Given the description of an element on the screen output the (x, y) to click on. 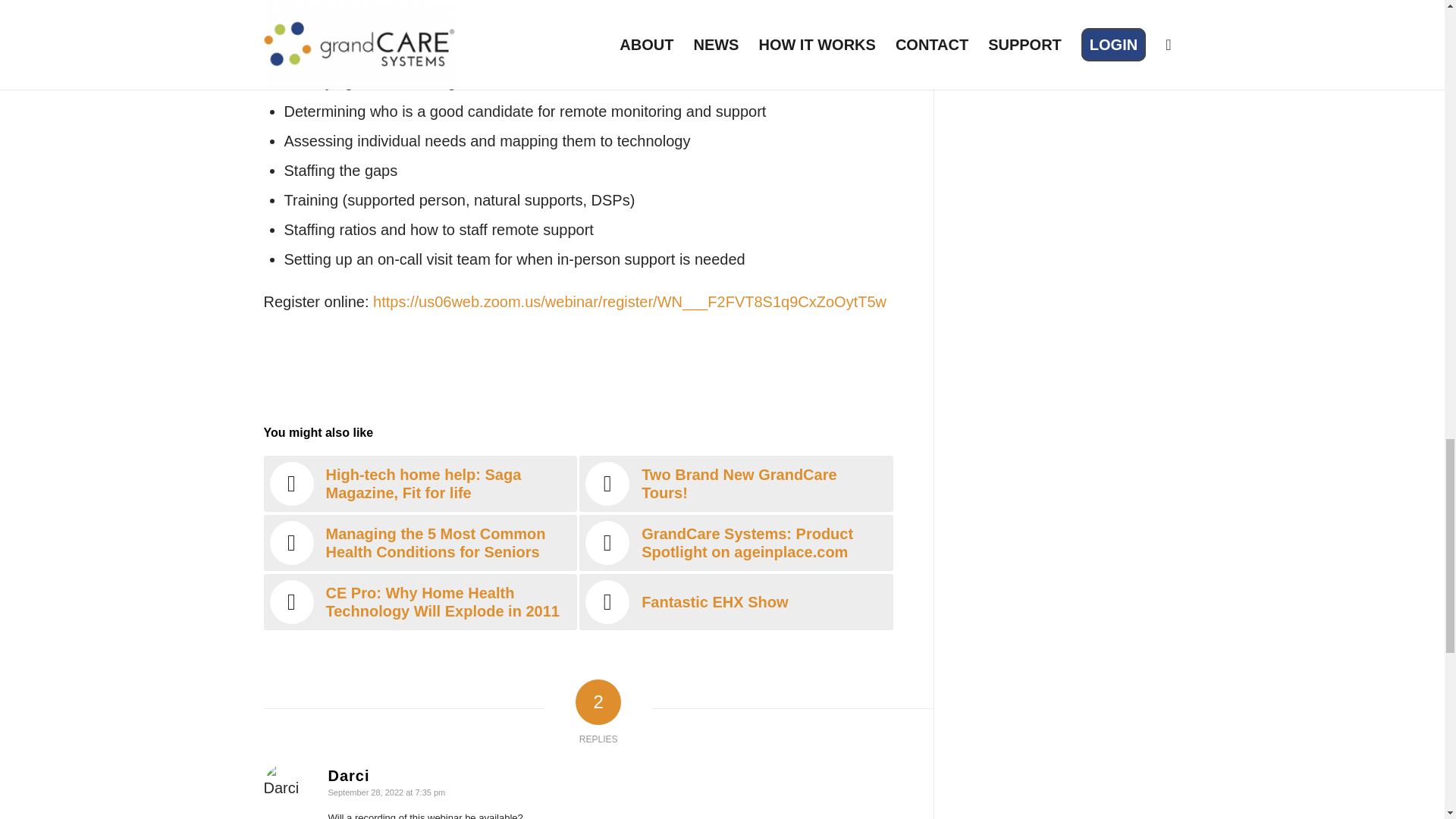
Two Brand New GrandCare Tours! (736, 483)
GrandCare Systems: Product Spotlight on ageinplace.com (736, 542)
CE Pro: Why Home Health Technology Will Explode in 2011 (420, 601)
Managing the 5 Most Common Health Conditions for Seniors (420, 542)
Two Brand New GrandCare Tours! (736, 483)
CE Pro: Why Home Health Technology Will Explode in 2011 (420, 601)
GrandCare Systems: Product Spotlight on ageinplace.com (736, 542)
Fantastic EHX Show (736, 601)
High-tech home help: Saga Magazine, Fit for life (420, 483)
High-tech home help: Saga Magazine, Fit for life (420, 483)
September 28, 2022 at 7:35 pm (386, 791)
Managing the 5 Most Common Health Conditions for Seniors (420, 542)
Fantastic EHX Show (736, 601)
